Given the description of an element on the screen output the (x, y) to click on. 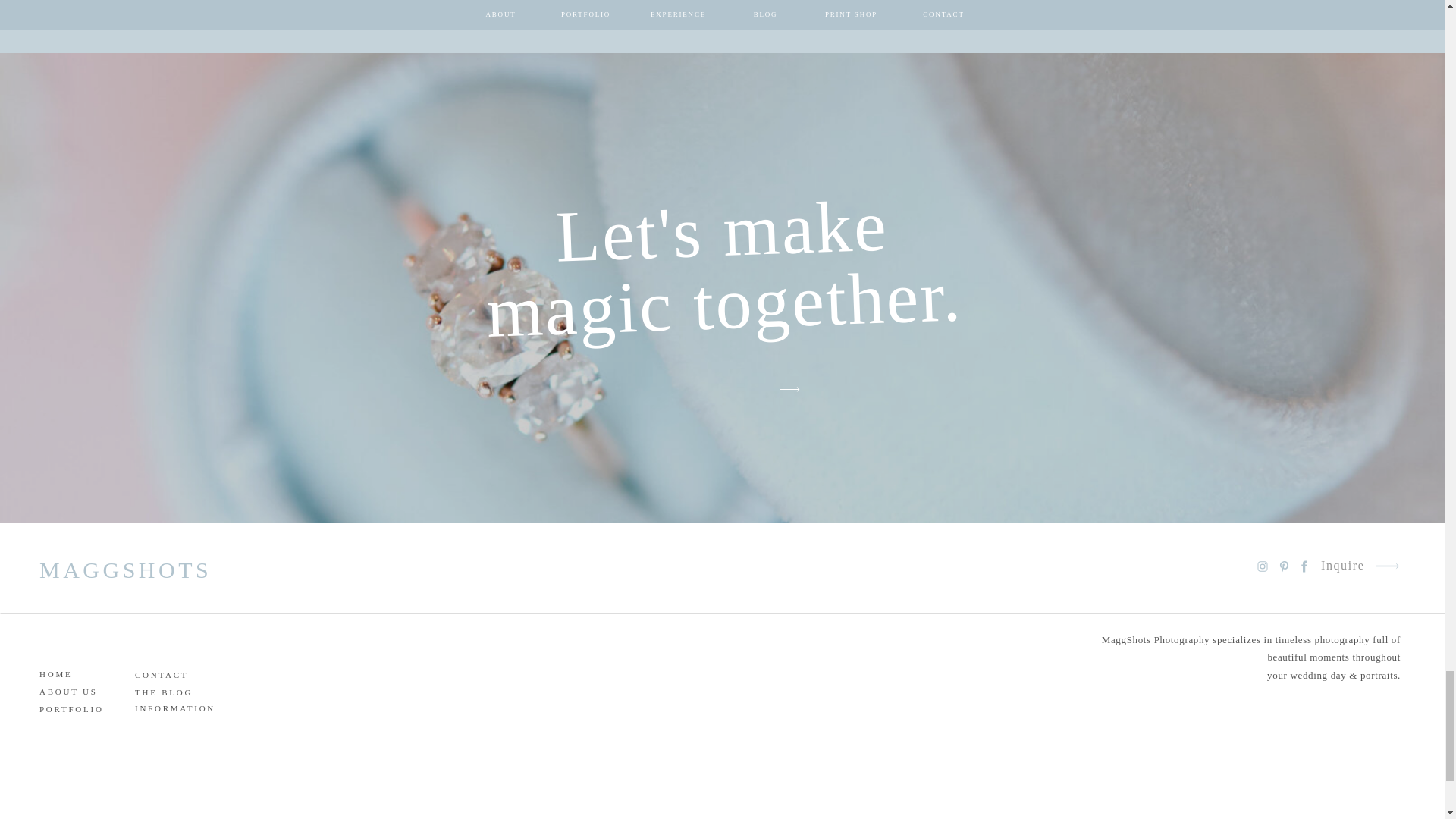
arrow (1386, 565)
arrow (789, 389)
